Given the description of an element on the screen output the (x, y) to click on. 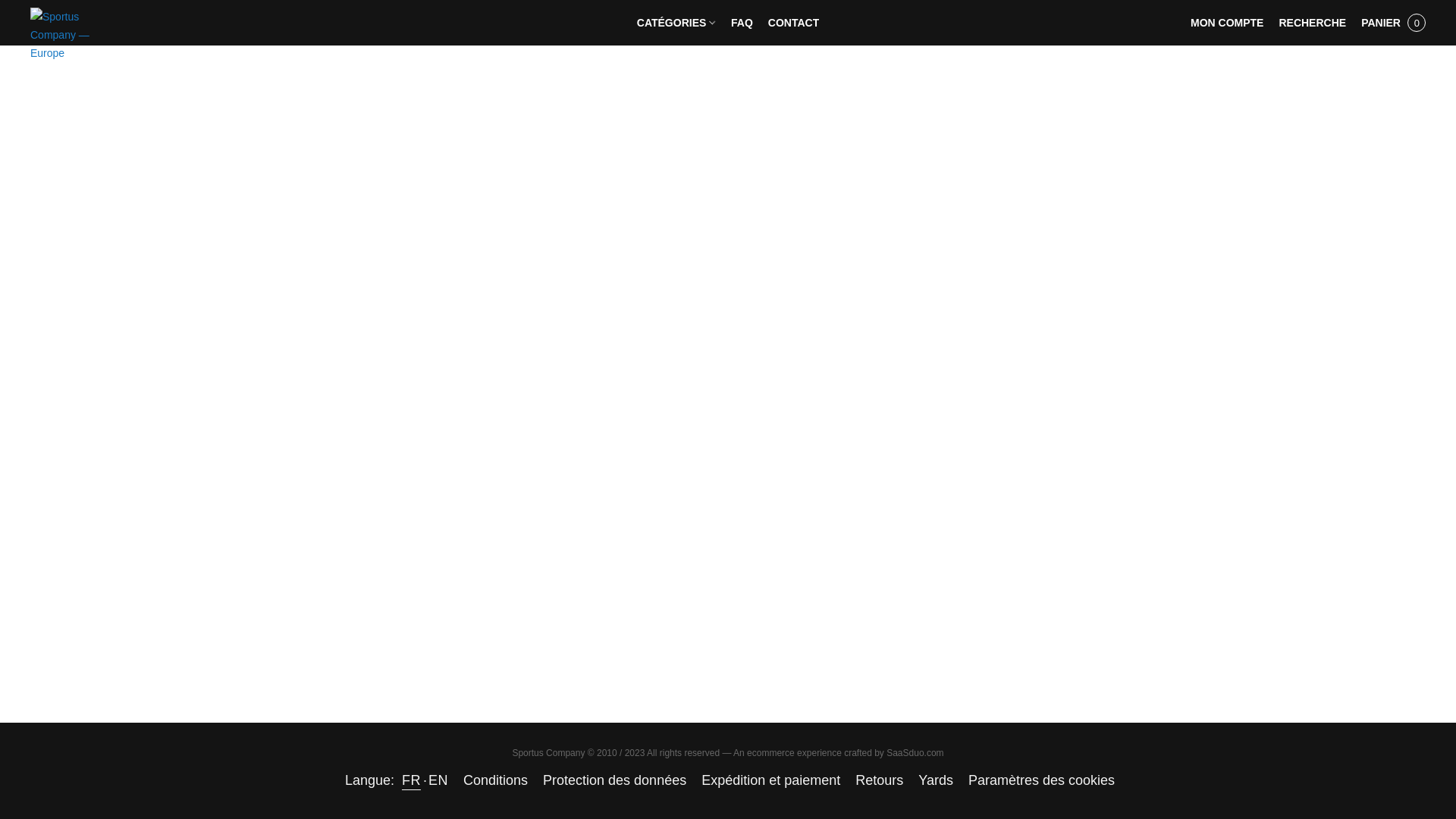
Aller au panier (1393, 22)
RECHERCHE (1311, 22)
Yards (935, 780)
Recherche le site Web (1311, 22)
MON COMPTE (1227, 22)
FAQ (741, 22)
PANIER (1393, 22)
Retours (879, 780)
CONTACT (789, 22)
Conditions (495, 780)
